Given the description of an element on the screen output the (x, y) to click on. 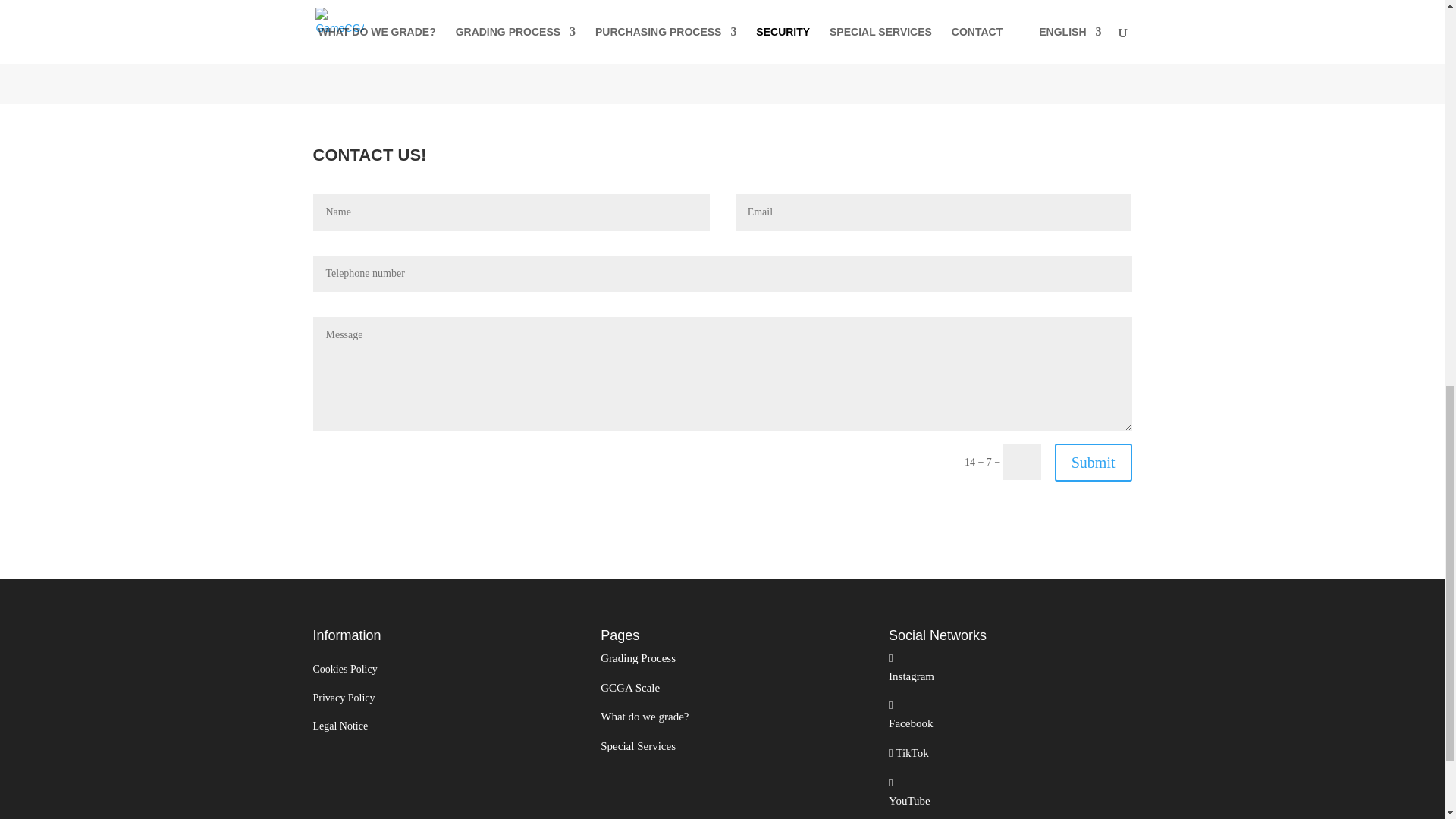
TikTok (910, 752)
YouTube (909, 806)
What do we grade? (643, 716)
Grading Process (637, 657)
Facebook (910, 732)
Legal Notice (340, 726)
Submit (1093, 462)
Cookies Policy (345, 668)
Special Services (637, 746)
Instagram (911, 685)
Privacy Policy (343, 697)
GCGA Scale (629, 687)
